Given the description of an element on the screen output the (x, y) to click on. 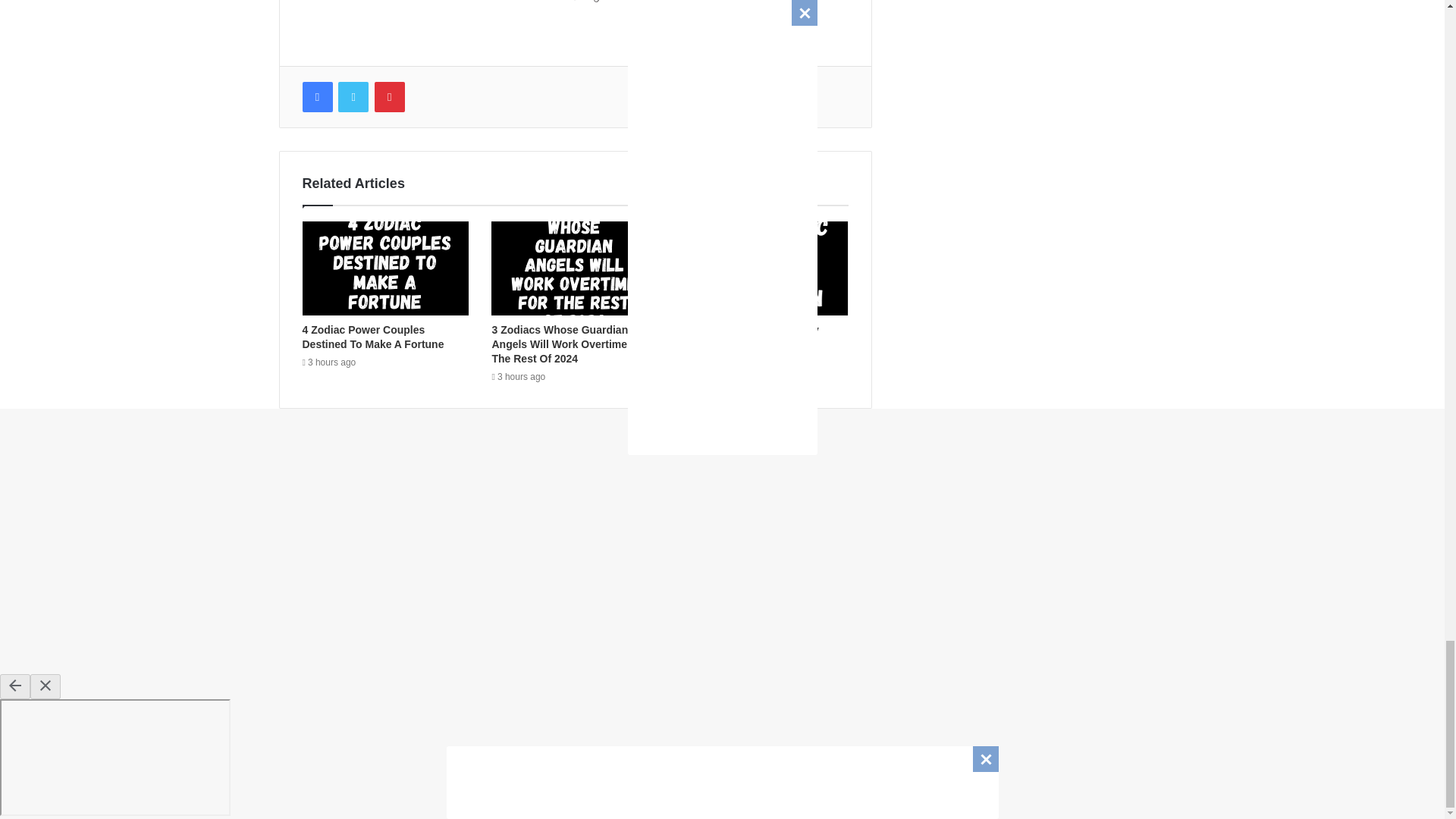
4 Zodiac Power Couples Destined To Make A Fortune (372, 336)
Narcissistic Traits Of Every Zodiac Sign (749, 336)
Pinterest (389, 96)
Facebook (316, 96)
Twitter (352, 96)
